Given the description of an element on the screen output the (x, y) to click on. 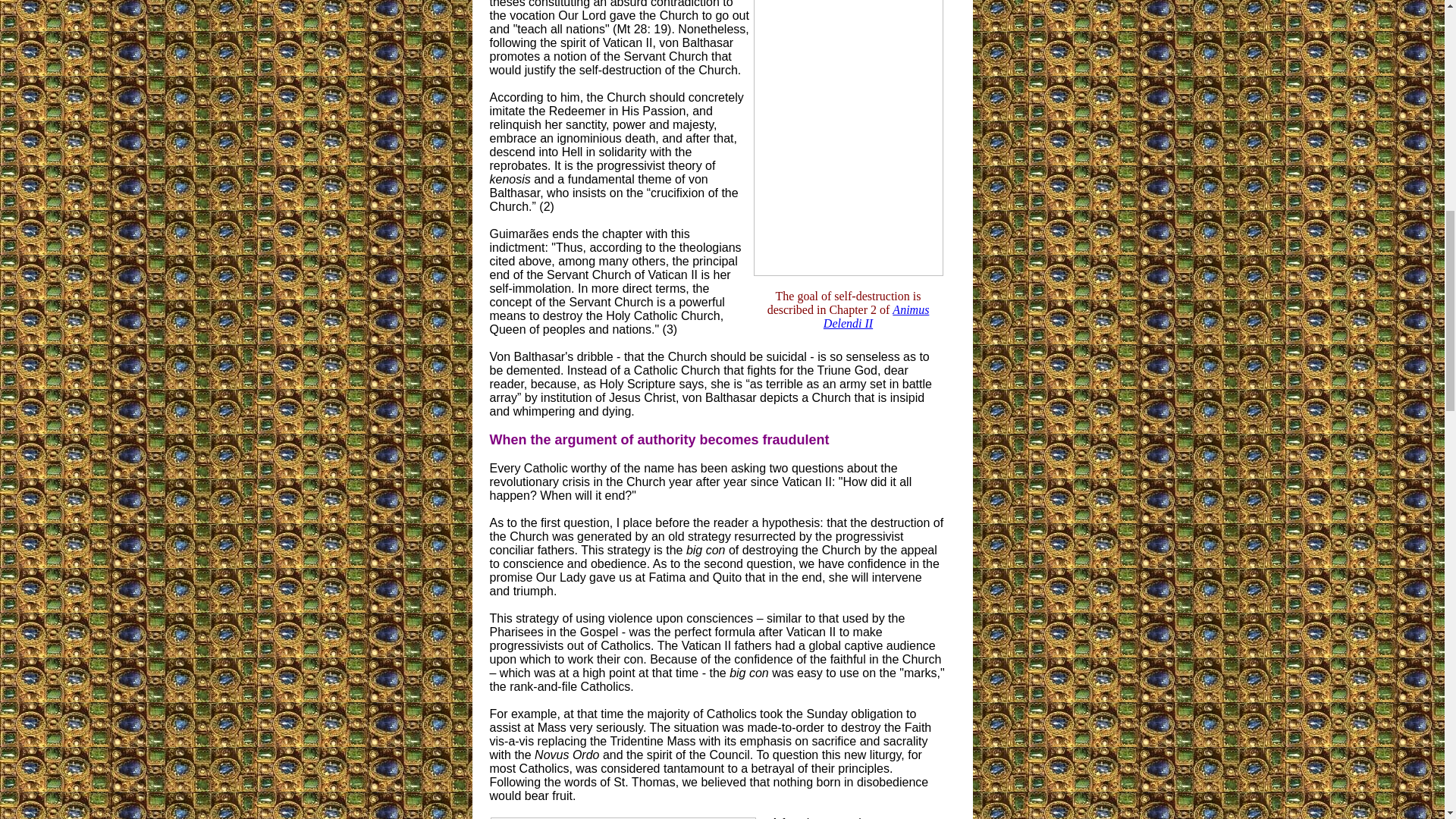
Animus Delendi II (877, 316)
